Given the description of an element on the screen output the (x, y) to click on. 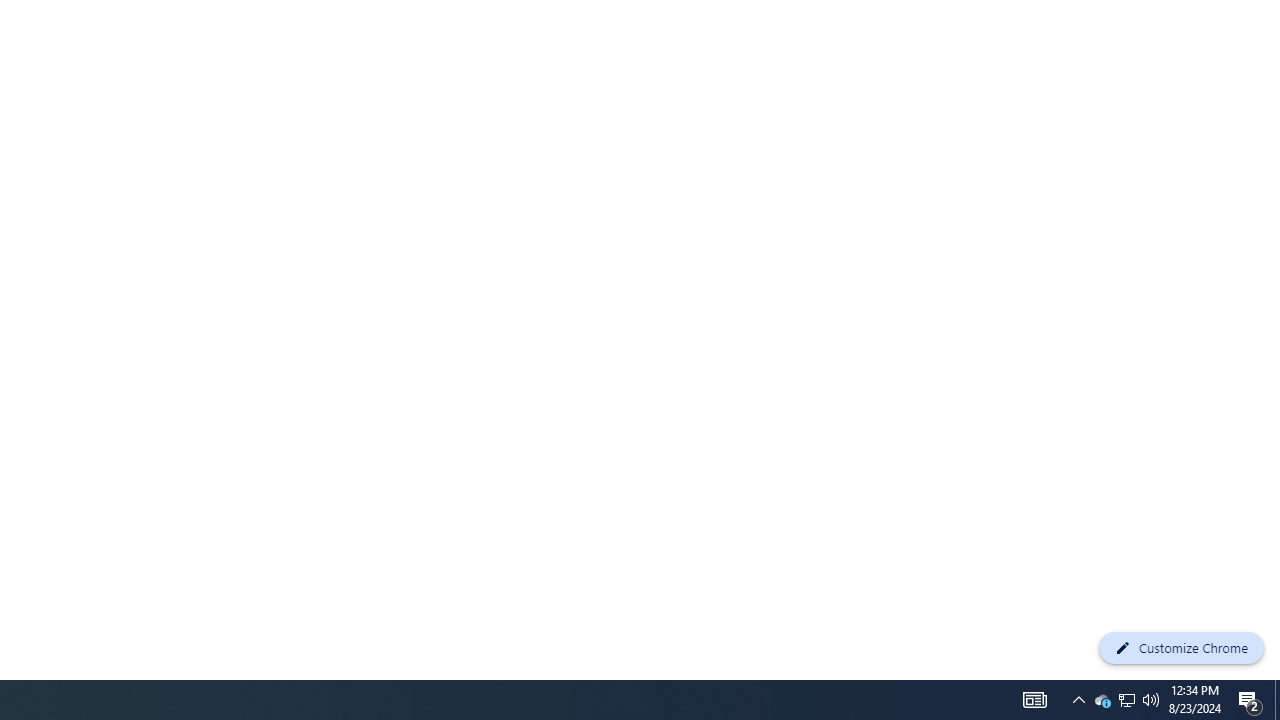
Customize Chrome (1181, 647)
